Given the description of an element on the screen output the (x, y) to click on. 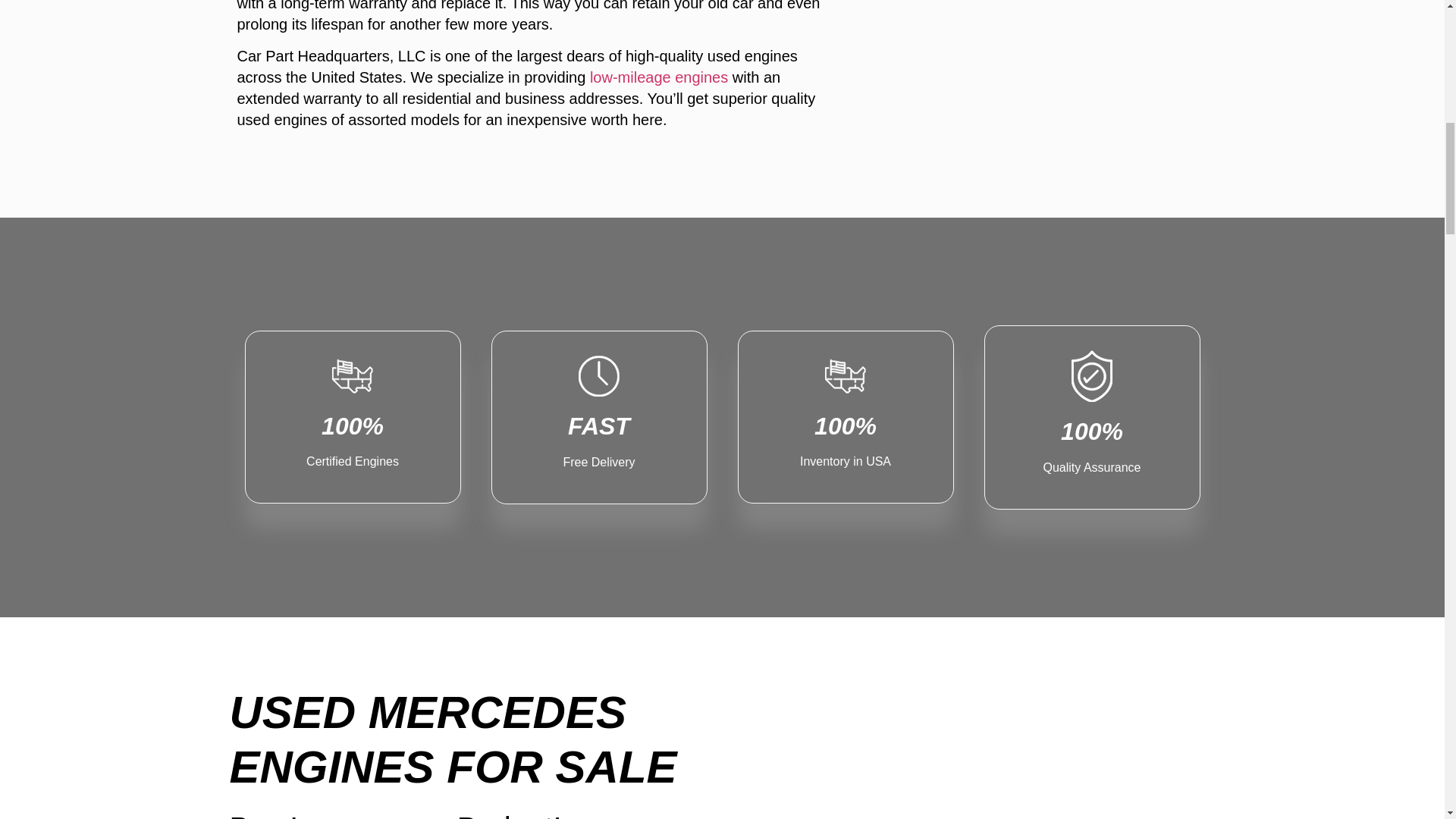
low-mileage engines (599, 417)
